Given the description of an element on the screen output the (x, y) to click on. 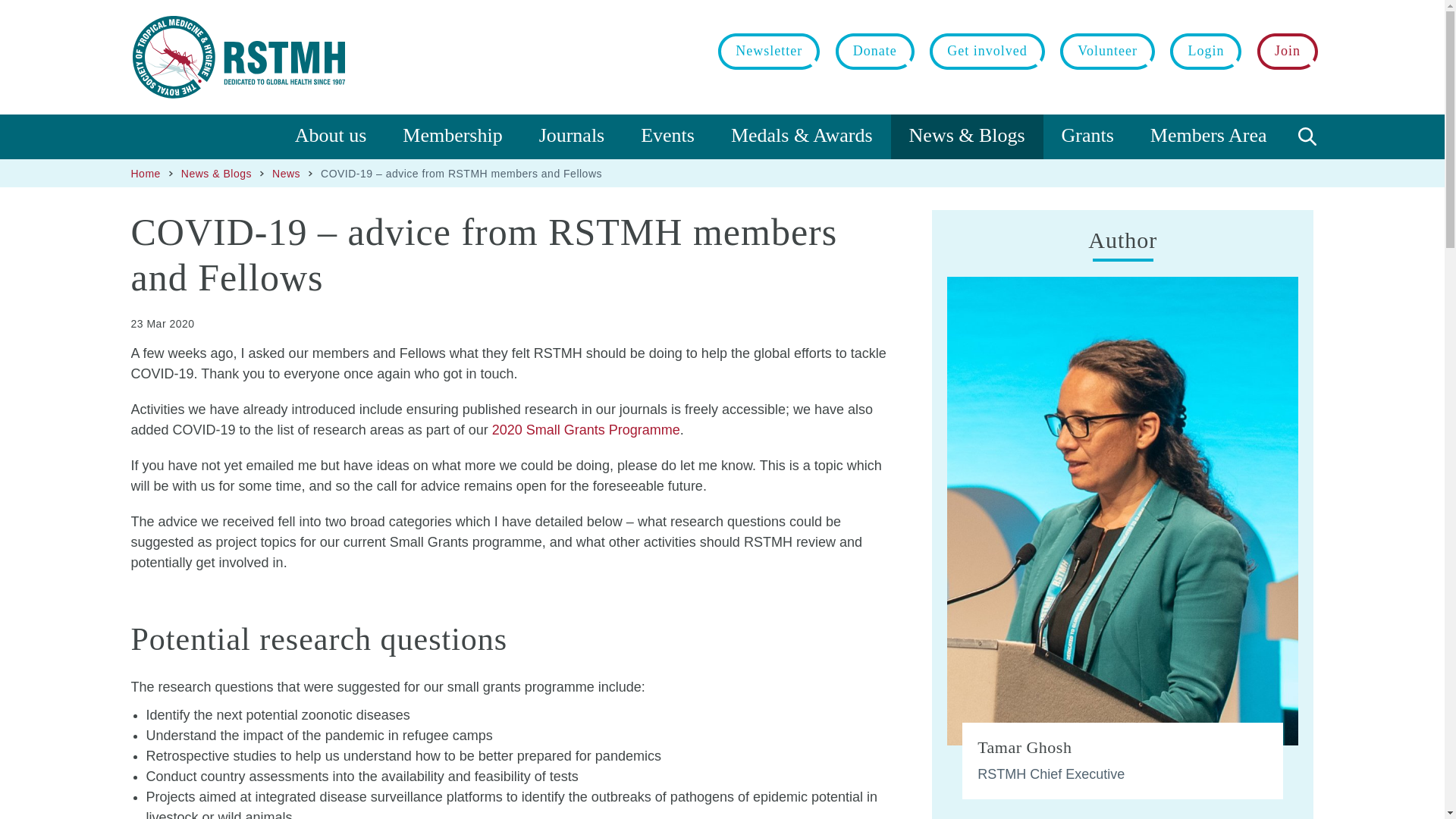
About us (330, 136)
Journals (572, 136)
Join (1287, 51)
Get involved (986, 51)
Newsletter (769, 51)
Donate (874, 51)
Login (1205, 51)
Volunteer (1107, 51)
Home (238, 56)
Membership (451, 136)
